Given the description of an element on the screen output the (x, y) to click on. 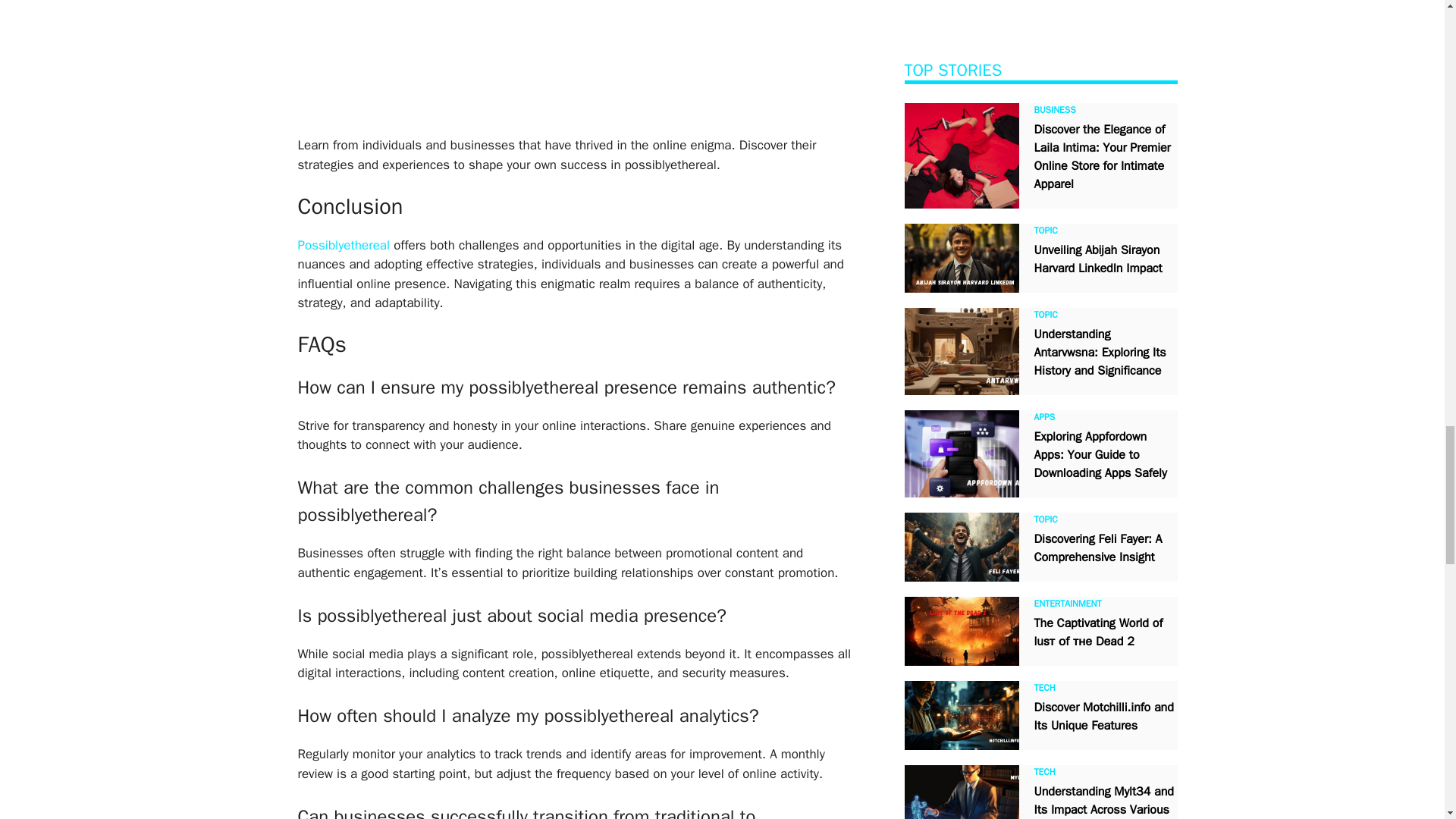
Possiblyethereal (343, 245)
